Given the description of an element on the screen output the (x, y) to click on. 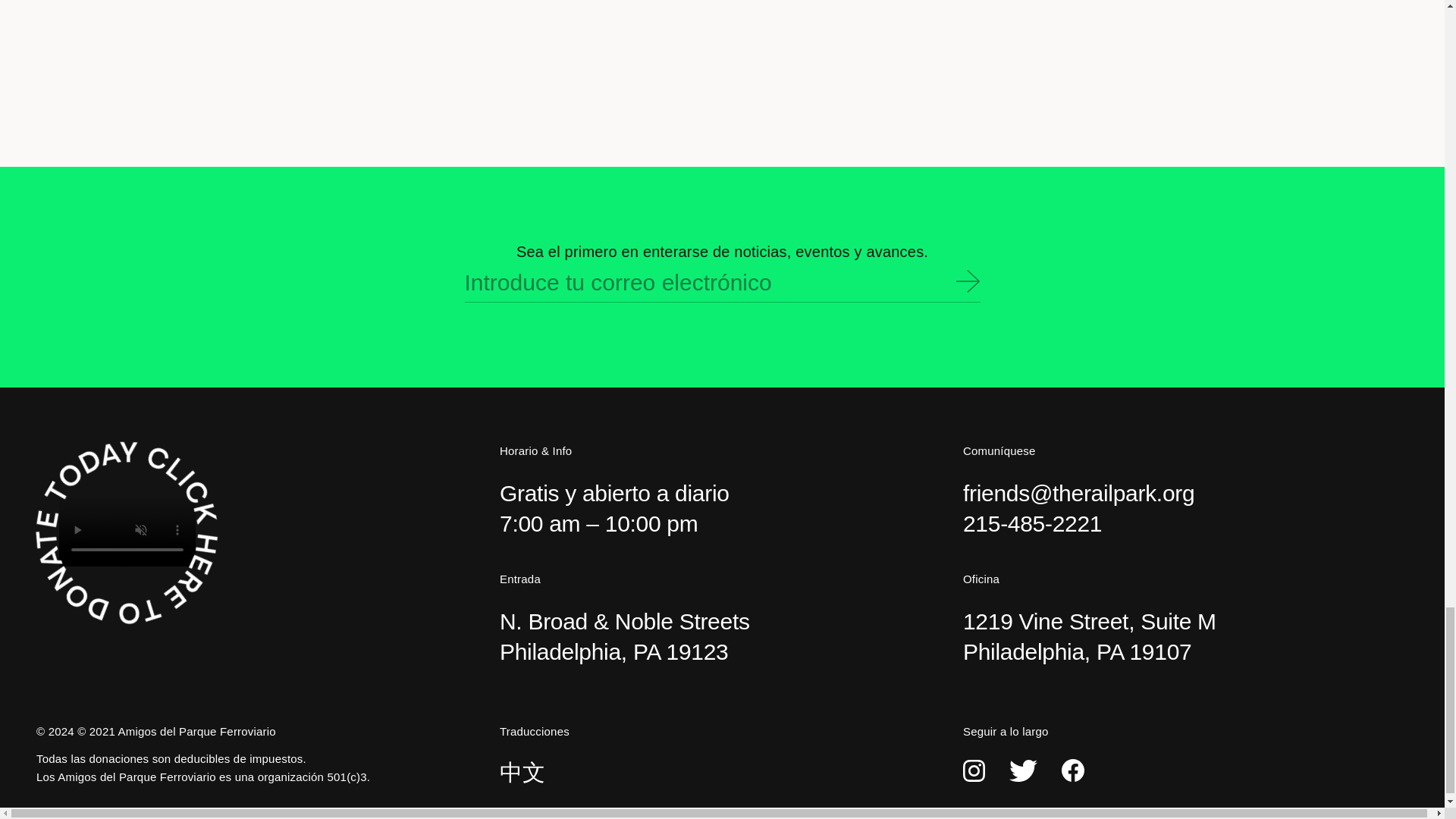
Arrow Icon (967, 281)
Instagram (973, 771)
Facebook (1072, 770)
Twitter (1022, 771)
